Given the description of an element on the screen output the (x, y) to click on. 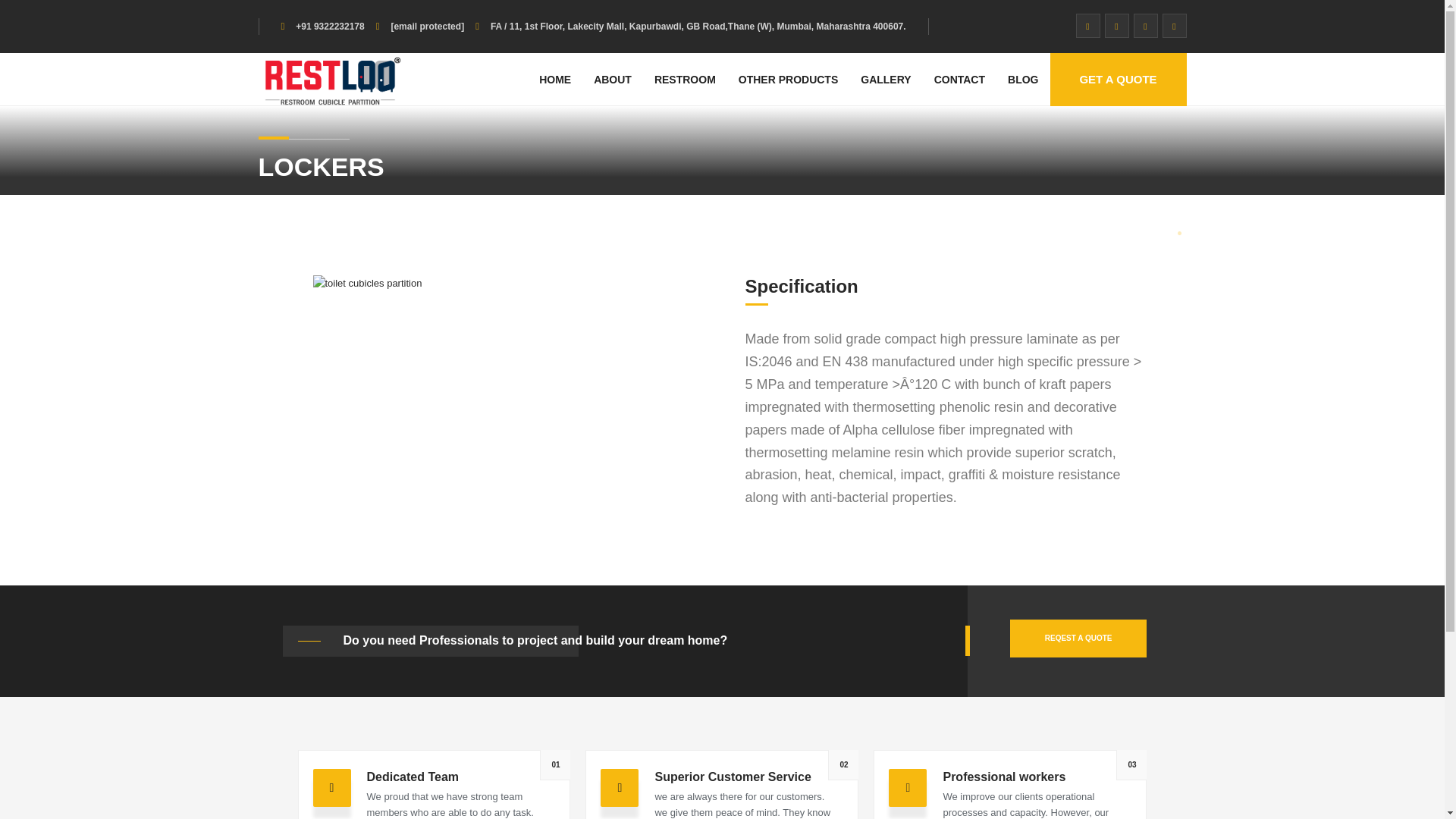
HOME (554, 79)
REQEST A QUOTE (1078, 638)
OTHER PRODUCTS (787, 79)
linkedin (1144, 25)
facebook (1173, 25)
CONTACT (959, 79)
BLOG (1022, 79)
ABOUT (612, 79)
instagram (1115, 25)
RESTROOM (684, 79)
